Given the description of an element on the screen output the (x, y) to click on. 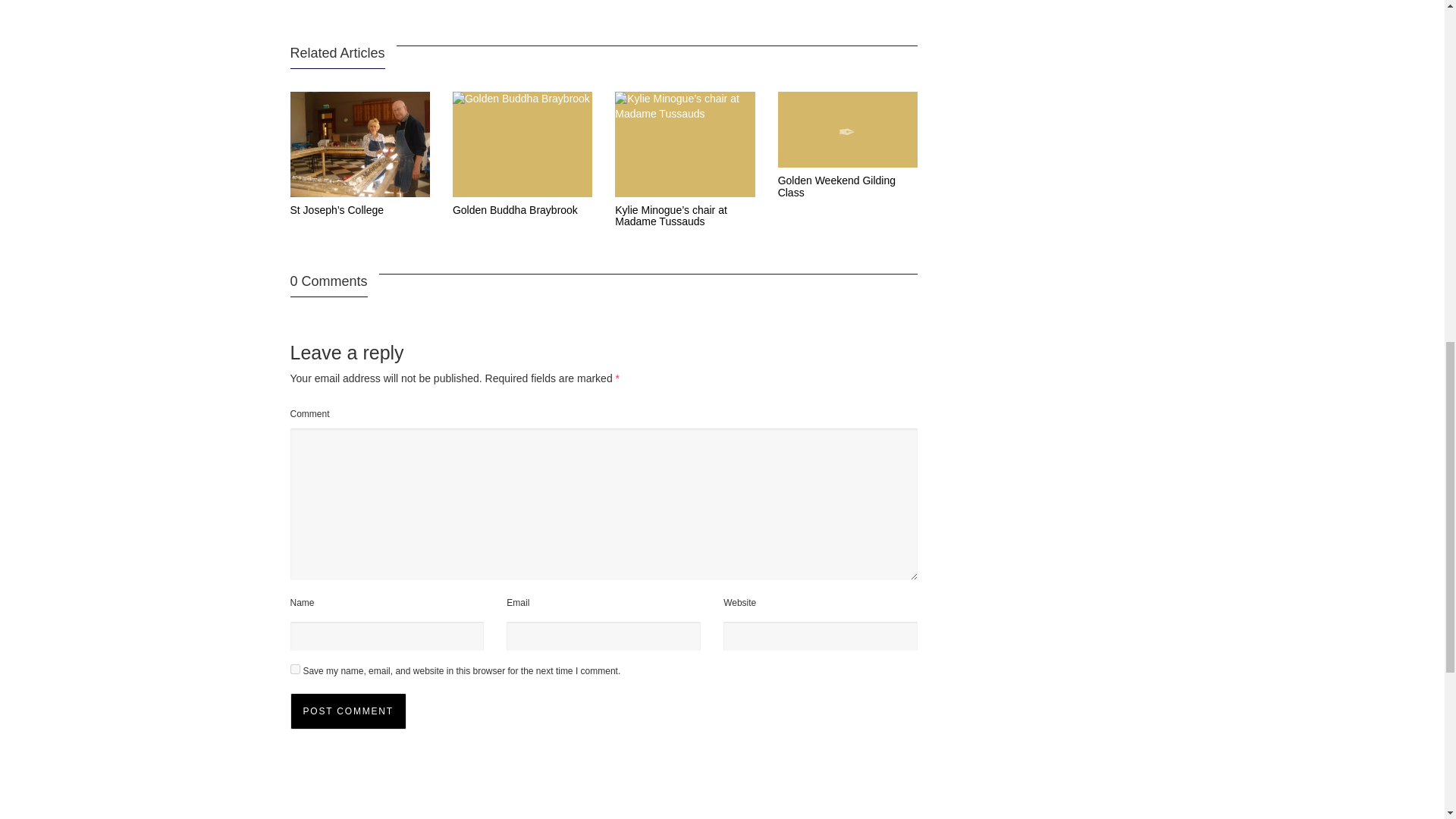
yes (294, 669)
Permanent Link to Golden Buddha Braybrook (515, 209)
Permanent Link to Golden Weekend Gilding Class (836, 186)
Post comment (347, 710)
